Given the description of an element on the screen output the (x, y) to click on. 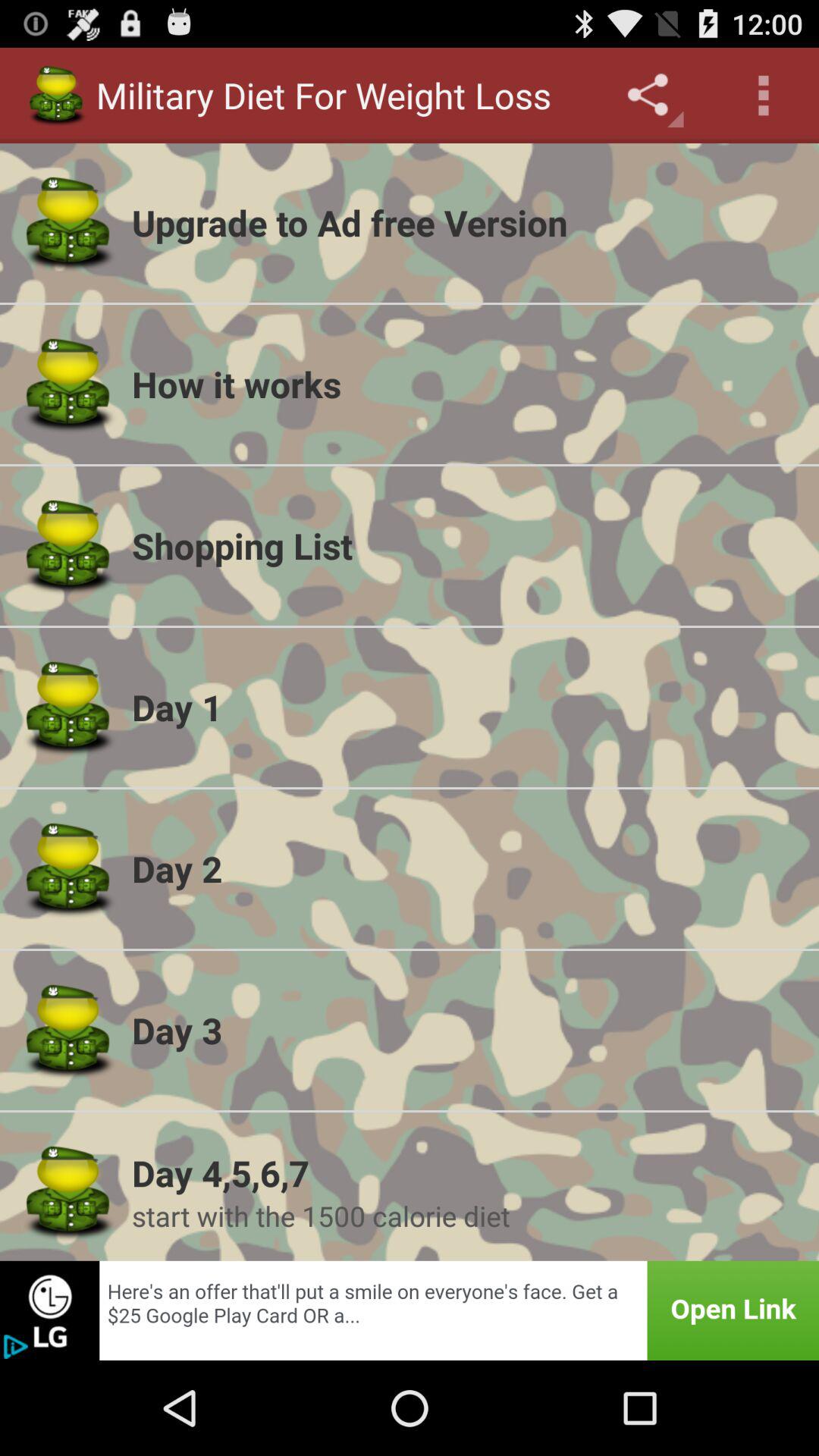
open advertisement (409, 1310)
